Given the description of an element on the screen output the (x, y) to click on. 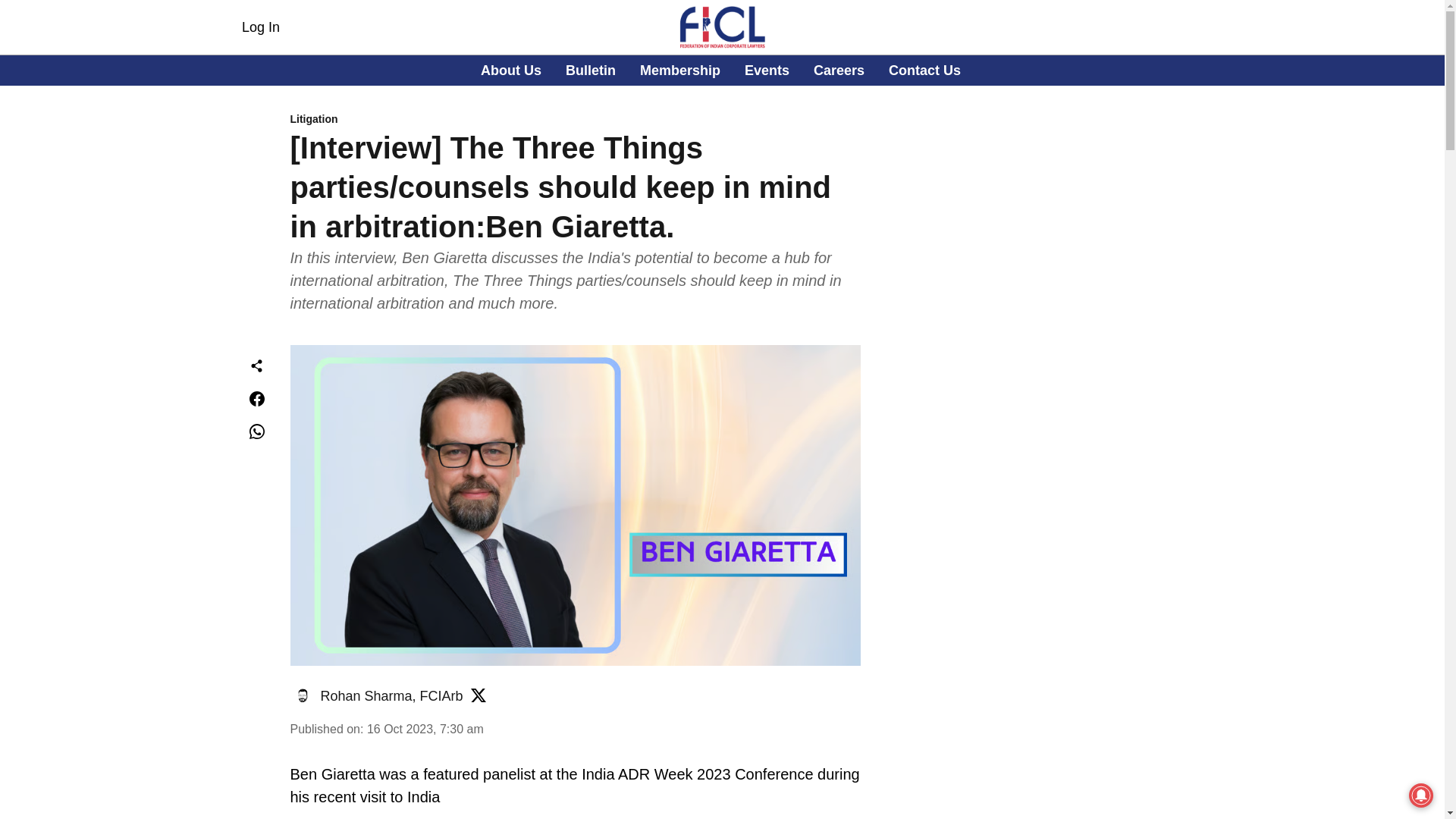
Membership (720, 70)
Log In (680, 70)
Litigation (260, 27)
Careers (574, 119)
Bulletin (838, 70)
Contact Us (590, 70)
About Us (924, 70)
Rohan Sharma, FCIArb (510, 70)
2023-10-15 23:30 (391, 695)
